Given the description of an element on the screen output the (x, y) to click on. 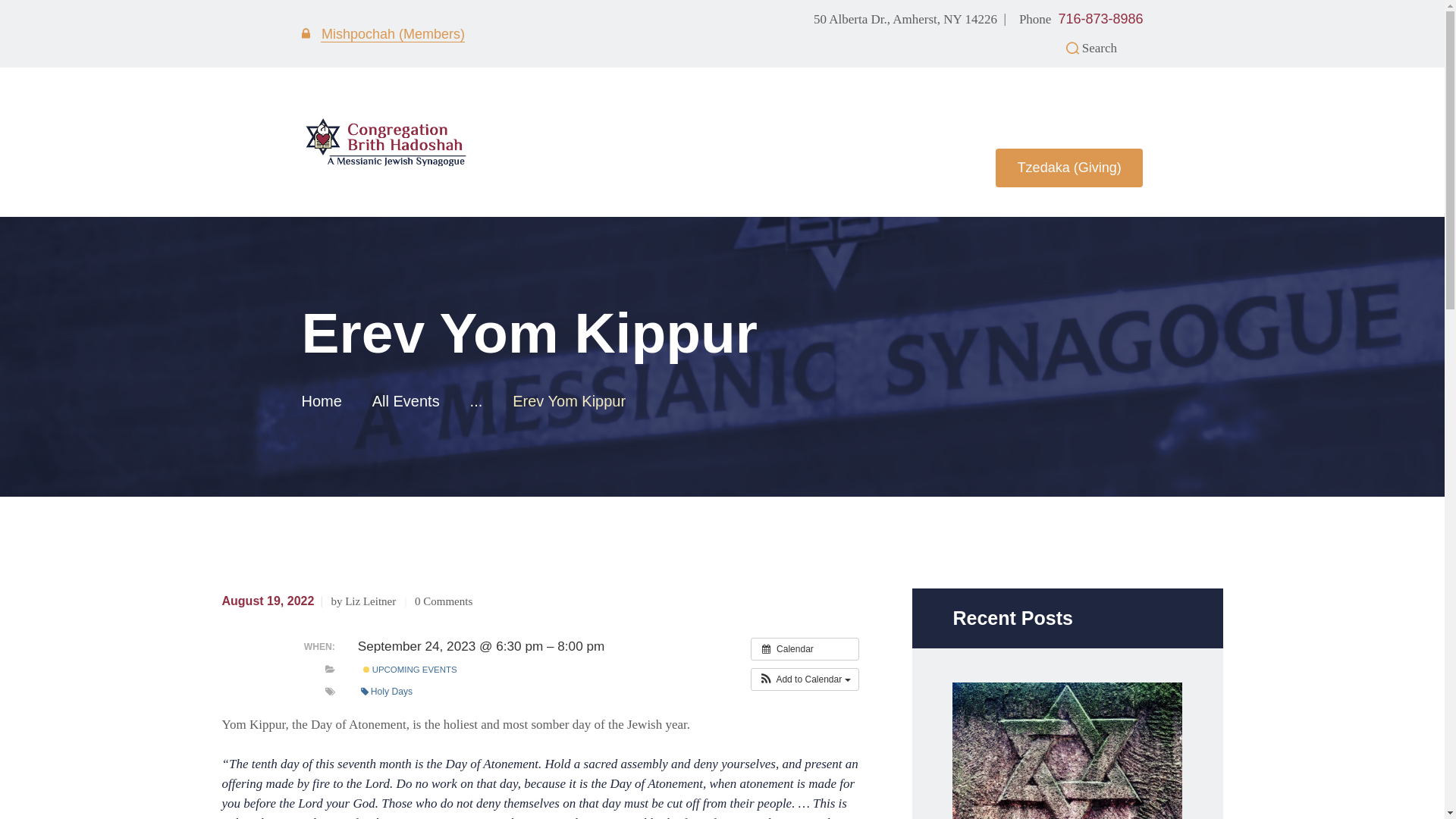
Categories (329, 669)
Phone716-873-8986 (1080, 18)
Tags (329, 691)
Home (321, 400)
All Events (405, 401)
August 19, 2022 (267, 600)
Upcoming Events (365, 669)
by Liz Leitner (369, 601)
View all events (805, 649)
